Given the description of an element on the screen output the (x, y) to click on. 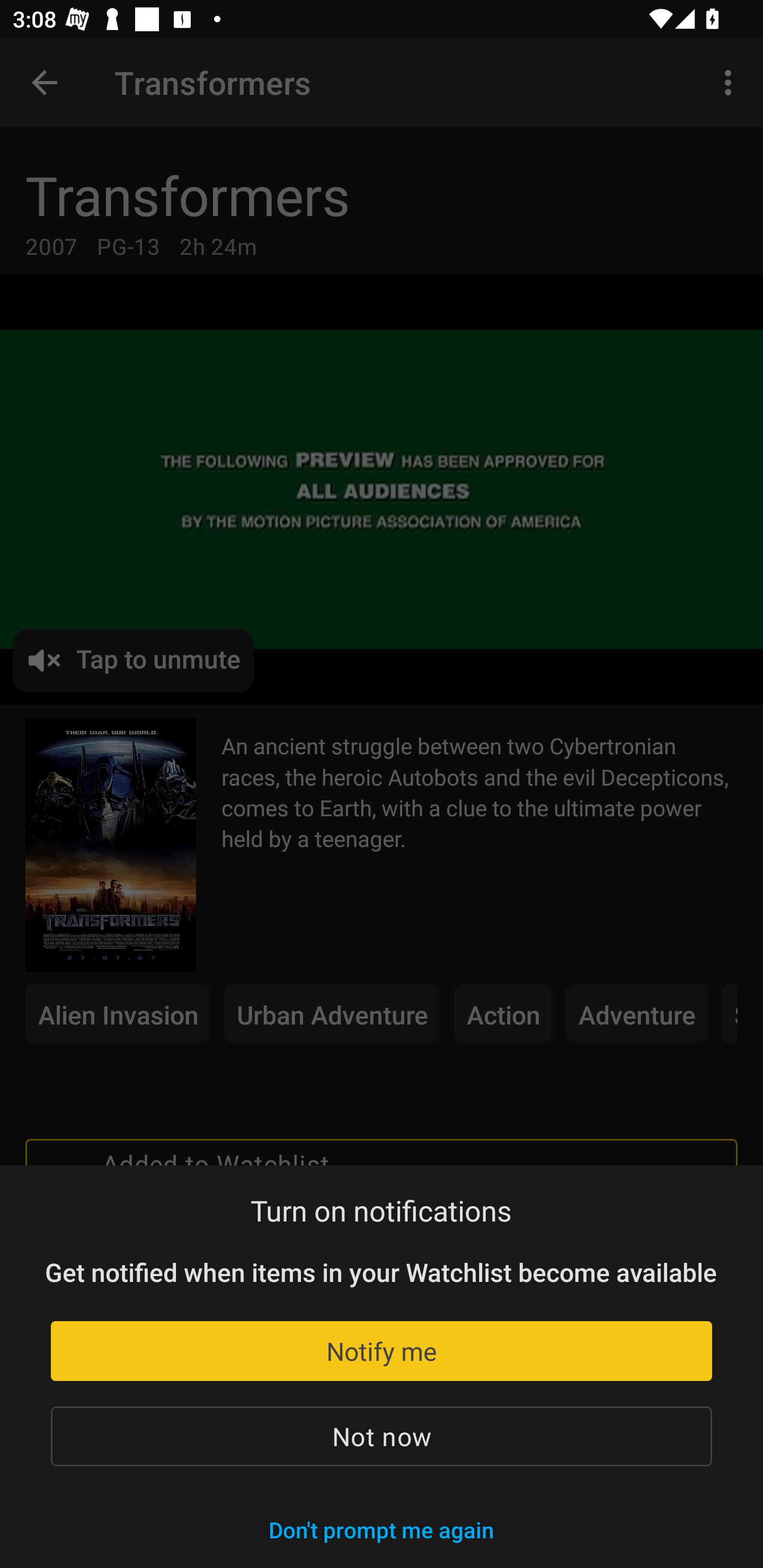
Notify me (381, 1351)
Not now (381, 1436)
Don't prompt me again (380, 1529)
